Given the description of an element on the screen output the (x, y) to click on. 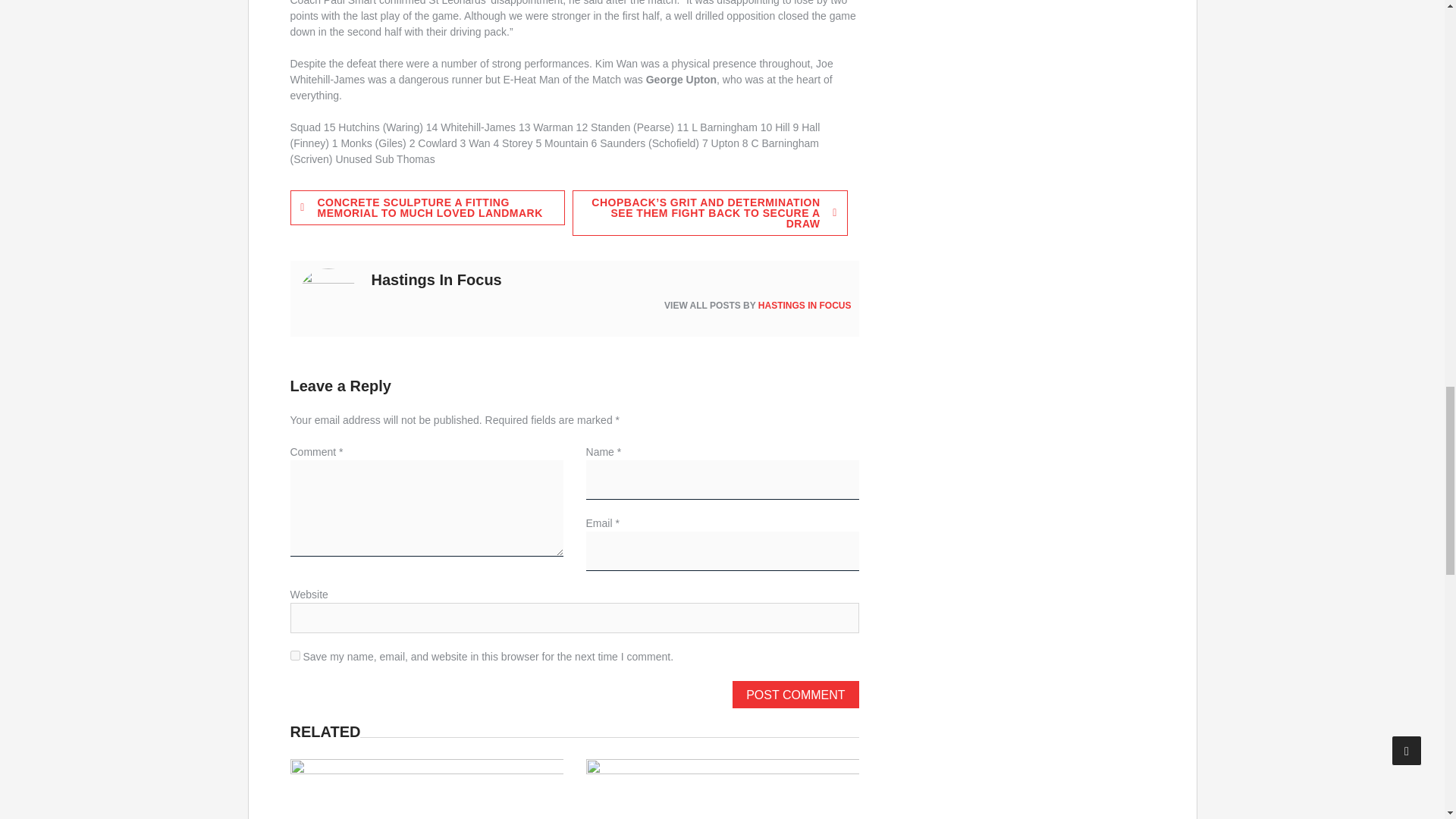
Post Comment (795, 694)
yes (294, 655)
CONCRETE SCULPTURE A FITTING MEMORIAL TO MUCH LOVED LANDMARK (426, 207)
Post Comment (795, 694)
HASTINGS IN FOCUS (804, 305)
